Given the description of an element on the screen output the (x, y) to click on. 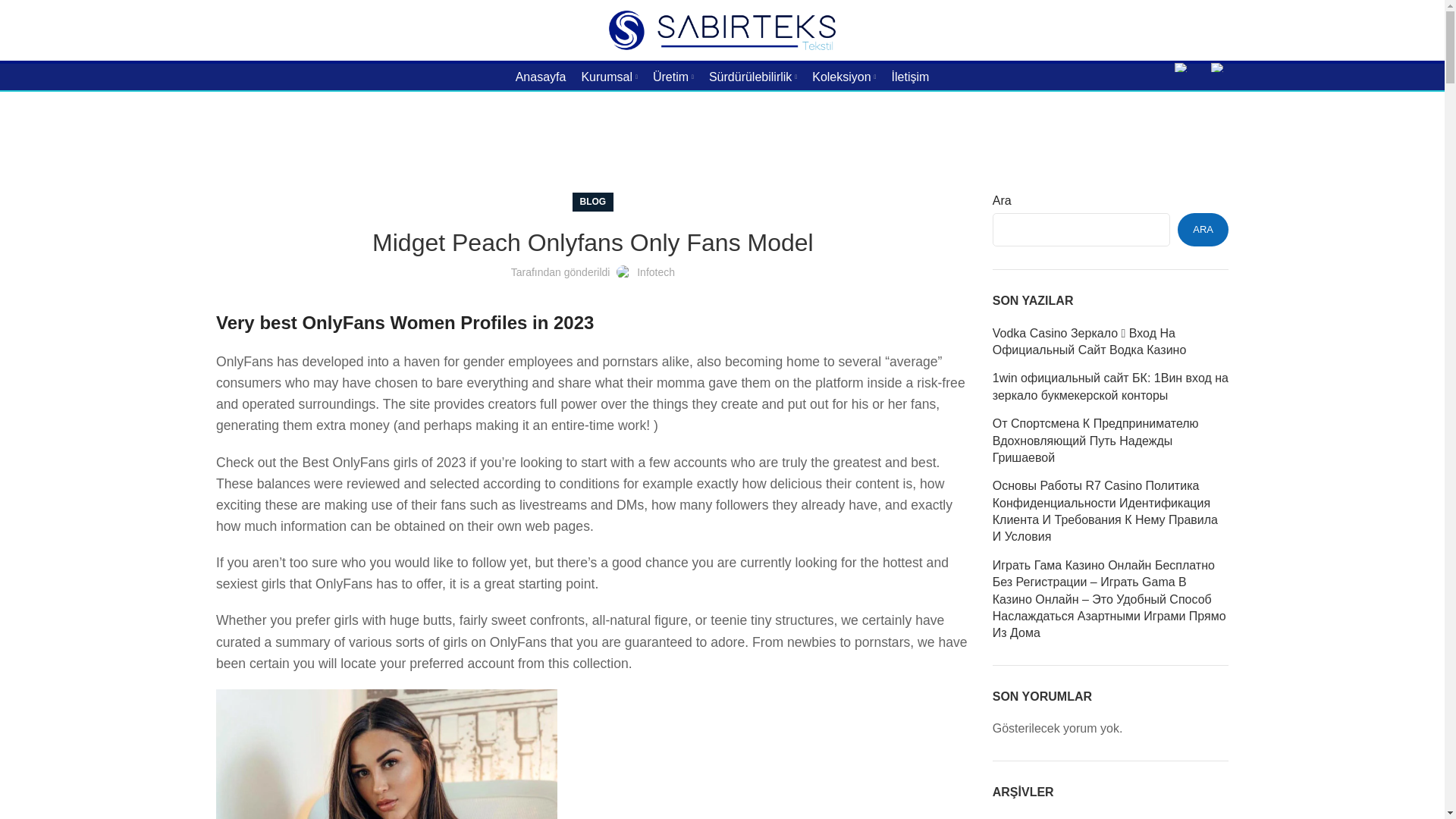
Kurumsal (609, 77)
English (1217, 67)
Anasayfa (540, 77)
Turkish (1181, 67)
Koleksiyon (844, 77)
BLOG (593, 201)
Infotech (656, 272)
